Given the description of an element on the screen output the (x, y) to click on. 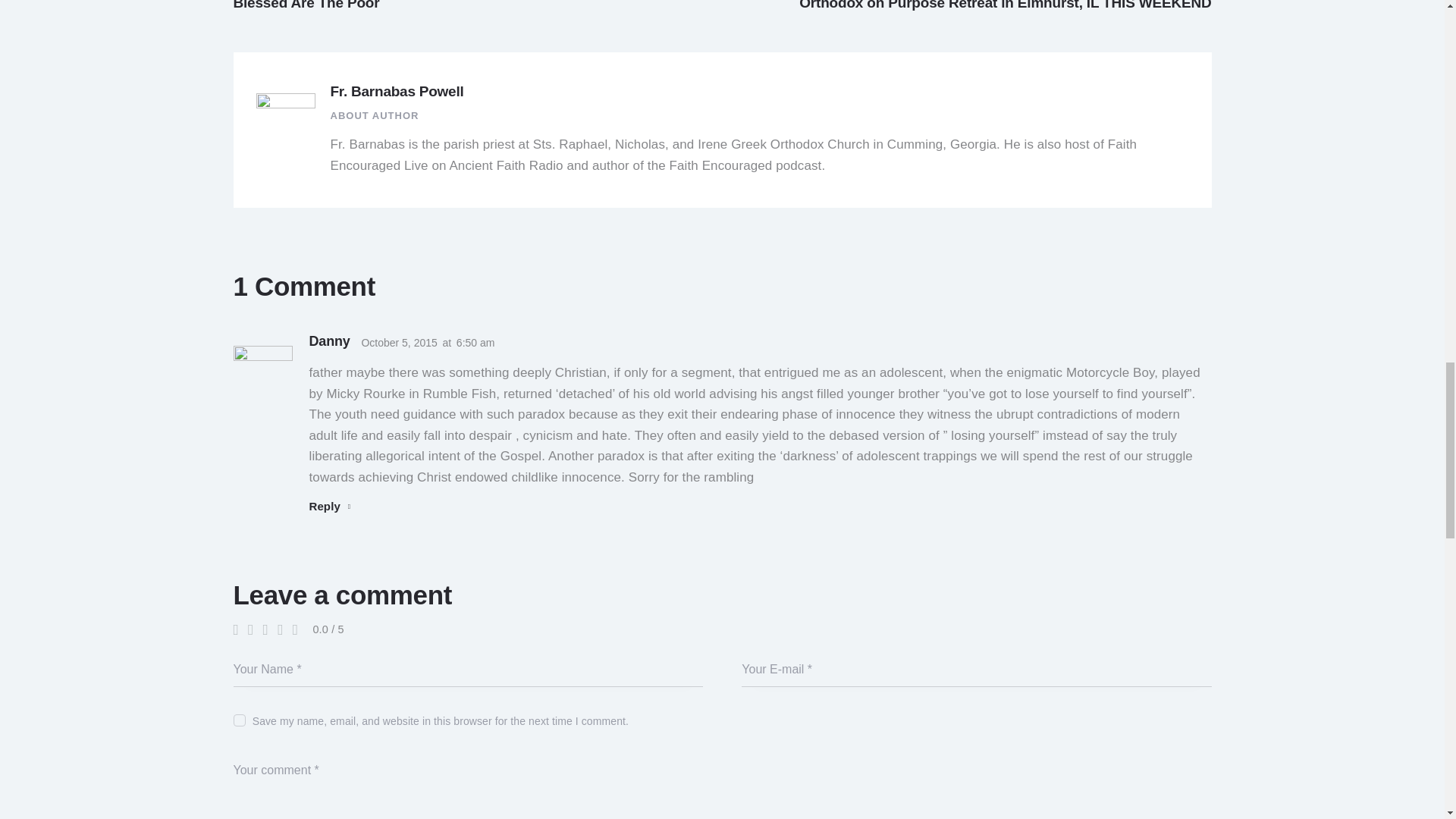
yes (237, 717)
